Given the description of an element on the screen output the (x, y) to click on. 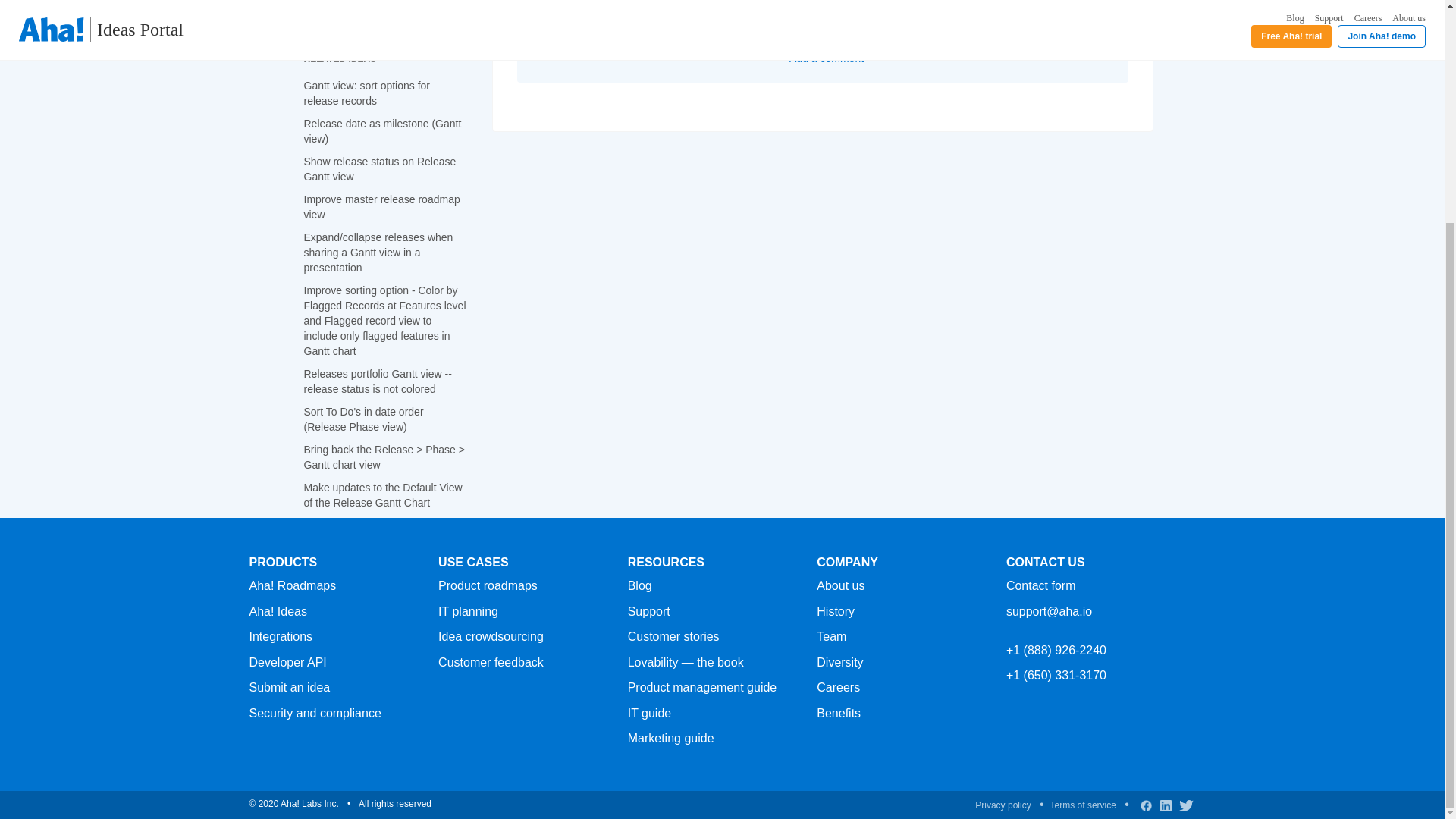
Improve master release roadmap view (381, 206)
Show release status on Release Gantt view (378, 168)
Make updates to the Default View of the Release Gantt Chart (381, 494)
Gantt view: sort options for release records (567, 13)
